Given the description of an element on the screen output the (x, y) to click on. 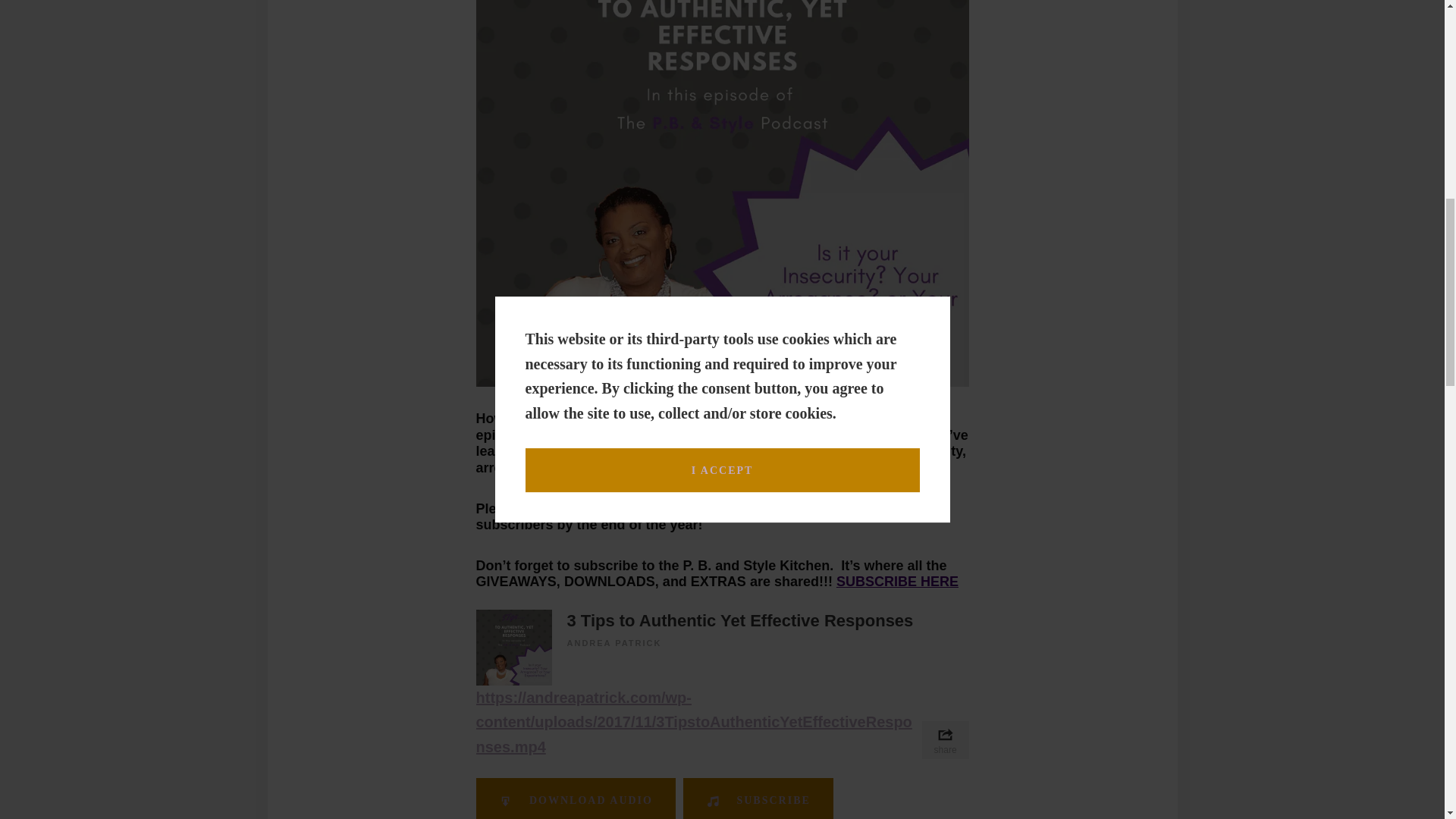
SUBSCRIBE (563, 508)
DOWNLOAD AUDIO (575, 798)
SUBSCRIBE HERE (896, 581)
share (945, 740)
SUBSCRIBE (757, 798)
